Given the description of an element on the screen output the (x, y) to click on. 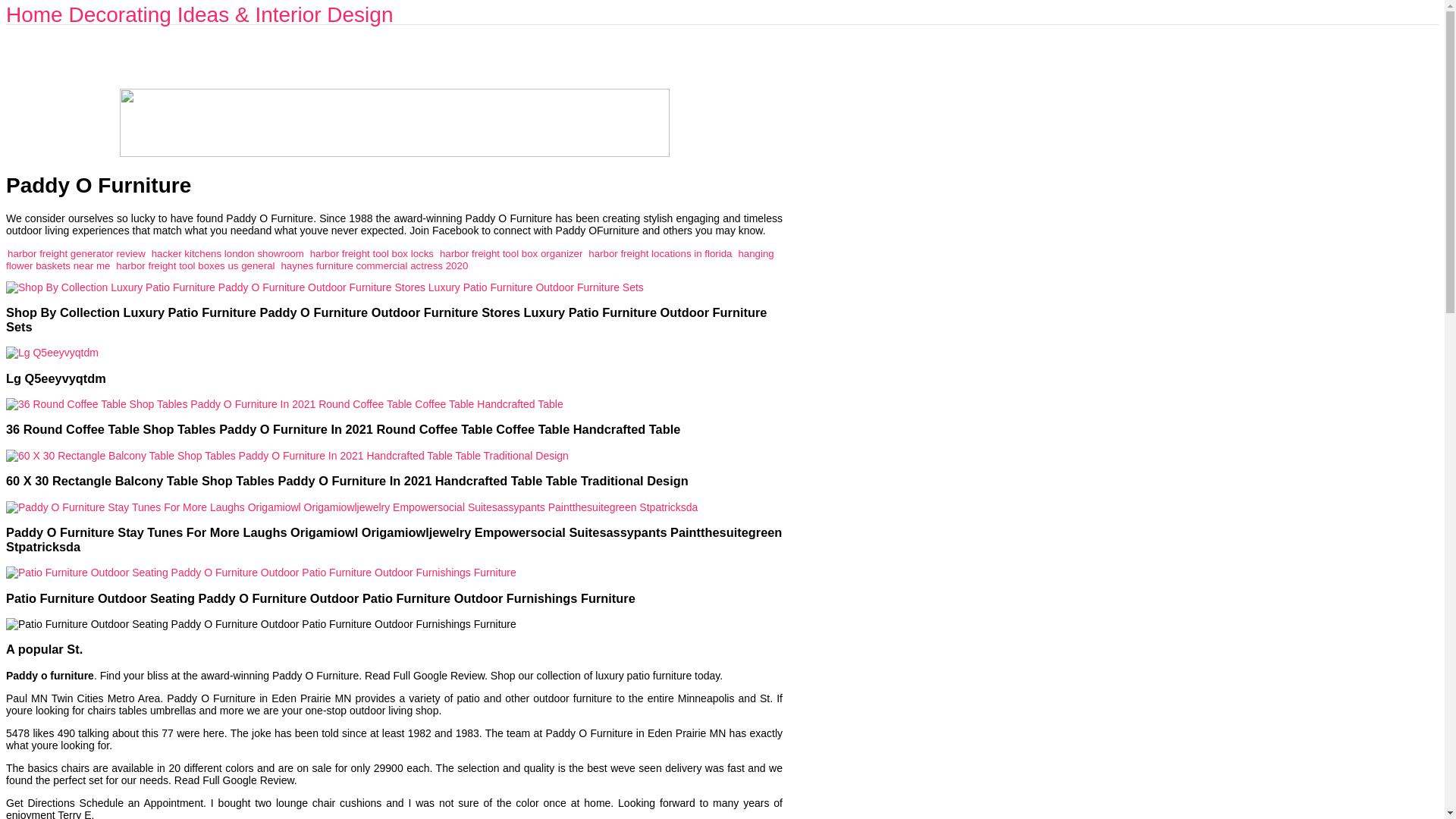
harbor freight tool box organizer (510, 252)
harbor freight locations in florida (660, 252)
haynes furniture commercial actress 2020 (374, 265)
harbor freight tool boxes us general (195, 265)
harbor freight tool box locks (371, 252)
harbor freight generator review (76, 252)
hanging flower baskets near me (389, 259)
hacker kitchens london showroom (227, 252)
